Given the description of an element on the screen output the (x, y) to click on. 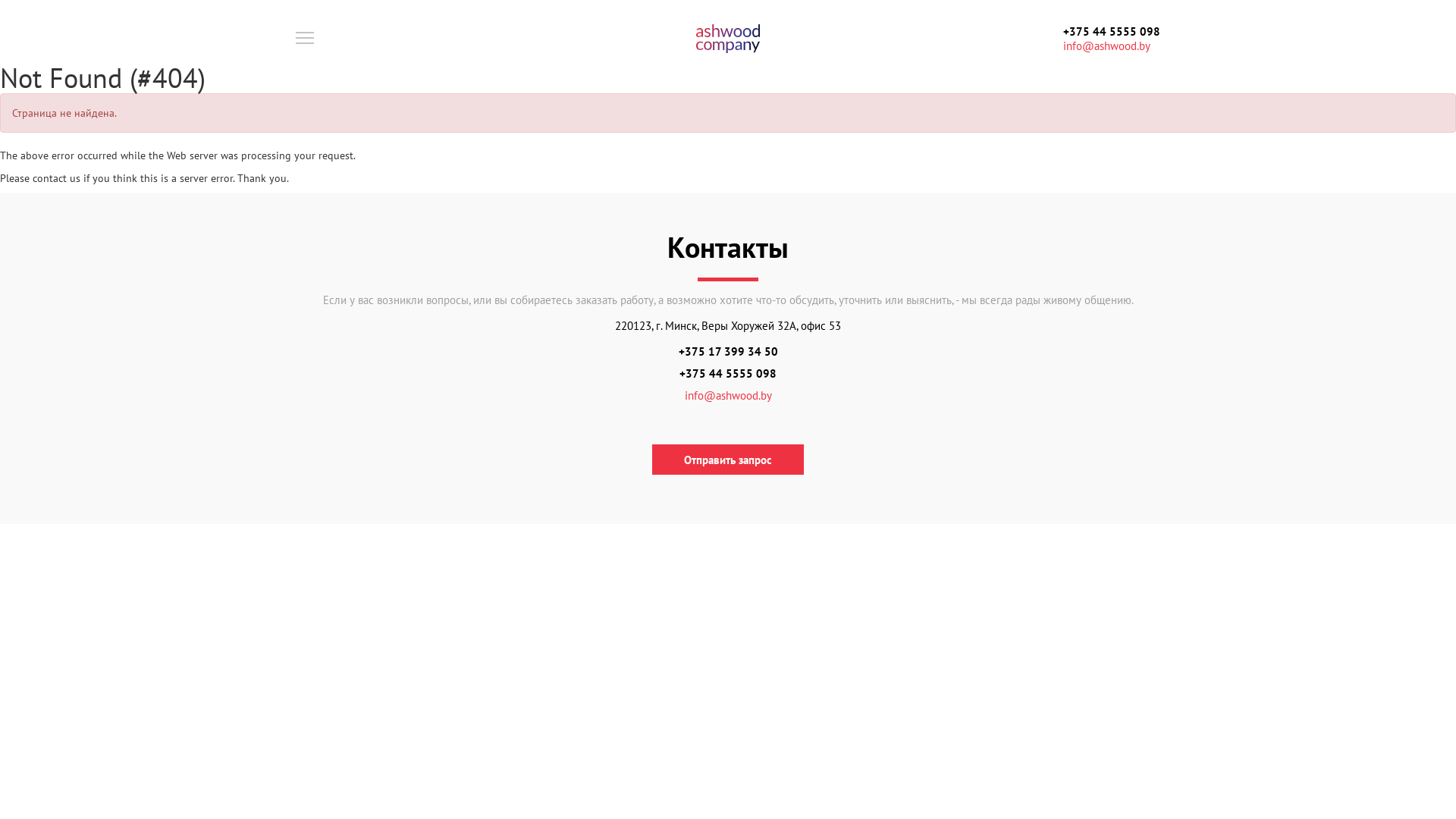
info@ashwood.by Element type: text (1106, 45)
+375 44 5555 098 Element type: text (1111, 31)
+375 17 399 34 50 Element type: text (727, 351)
+375 44 5555 098 Element type: text (727, 373)
info@ashwood.by Element type: text (727, 395)
